Given the description of an element on the screen output the (x, y) to click on. 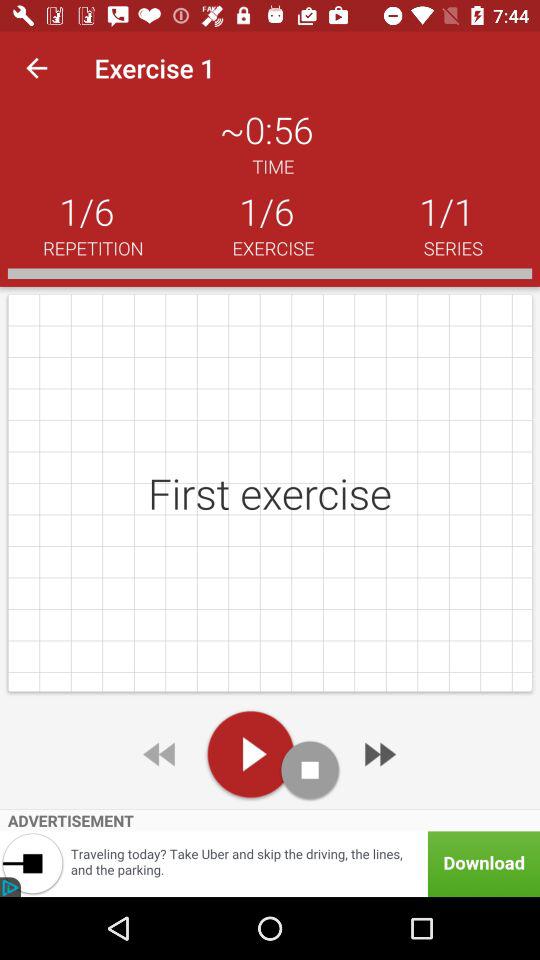
click the play option (250, 754)
